Given the description of an element on the screen output the (x, y) to click on. 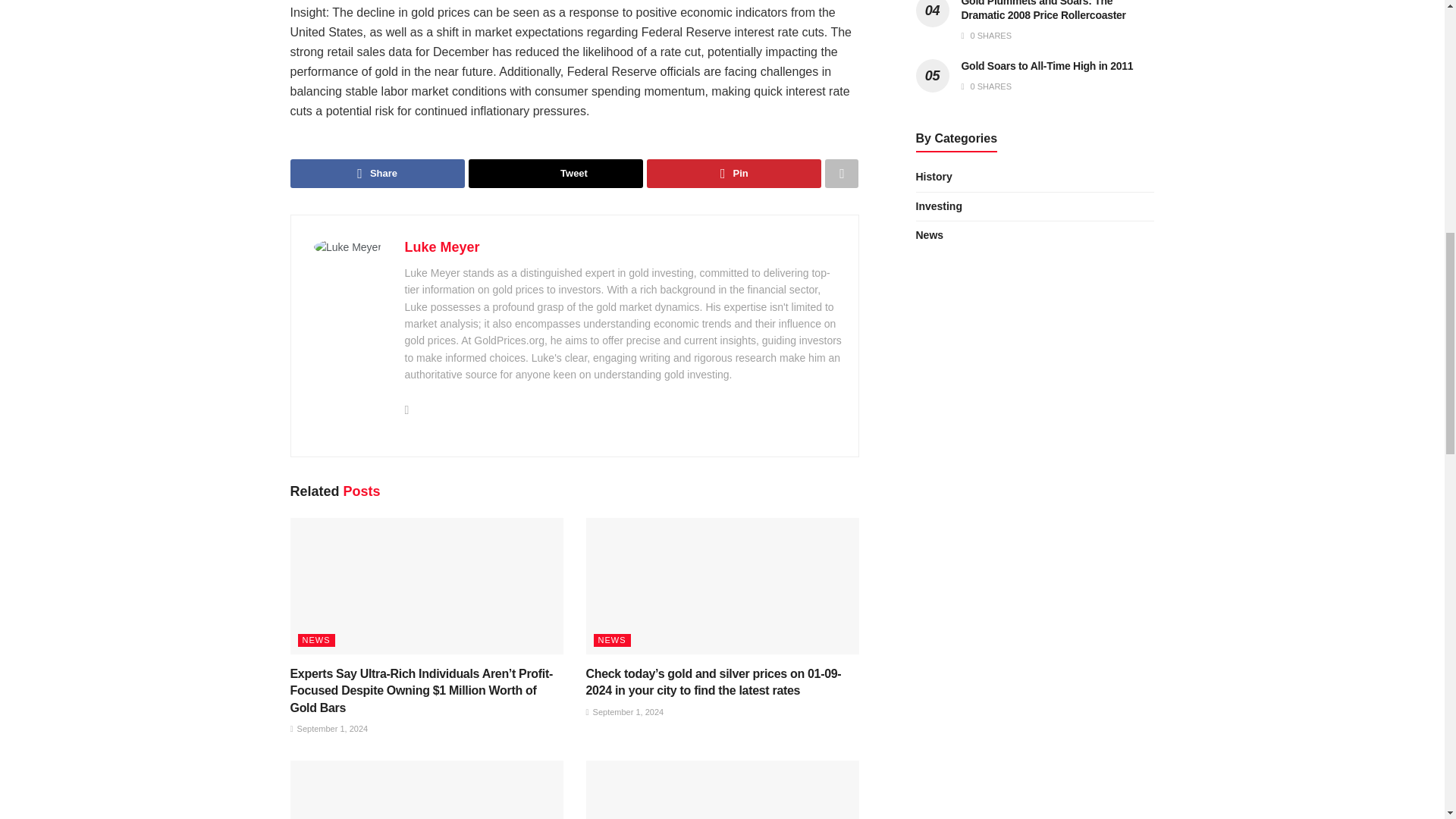
Share (376, 173)
September 1, 2024 (328, 728)
NEWS (315, 640)
Pin (733, 173)
NEWS (611, 640)
Tweet (555, 173)
Luke Meyer (442, 246)
